Given the description of an element on the screen output the (x, y) to click on. 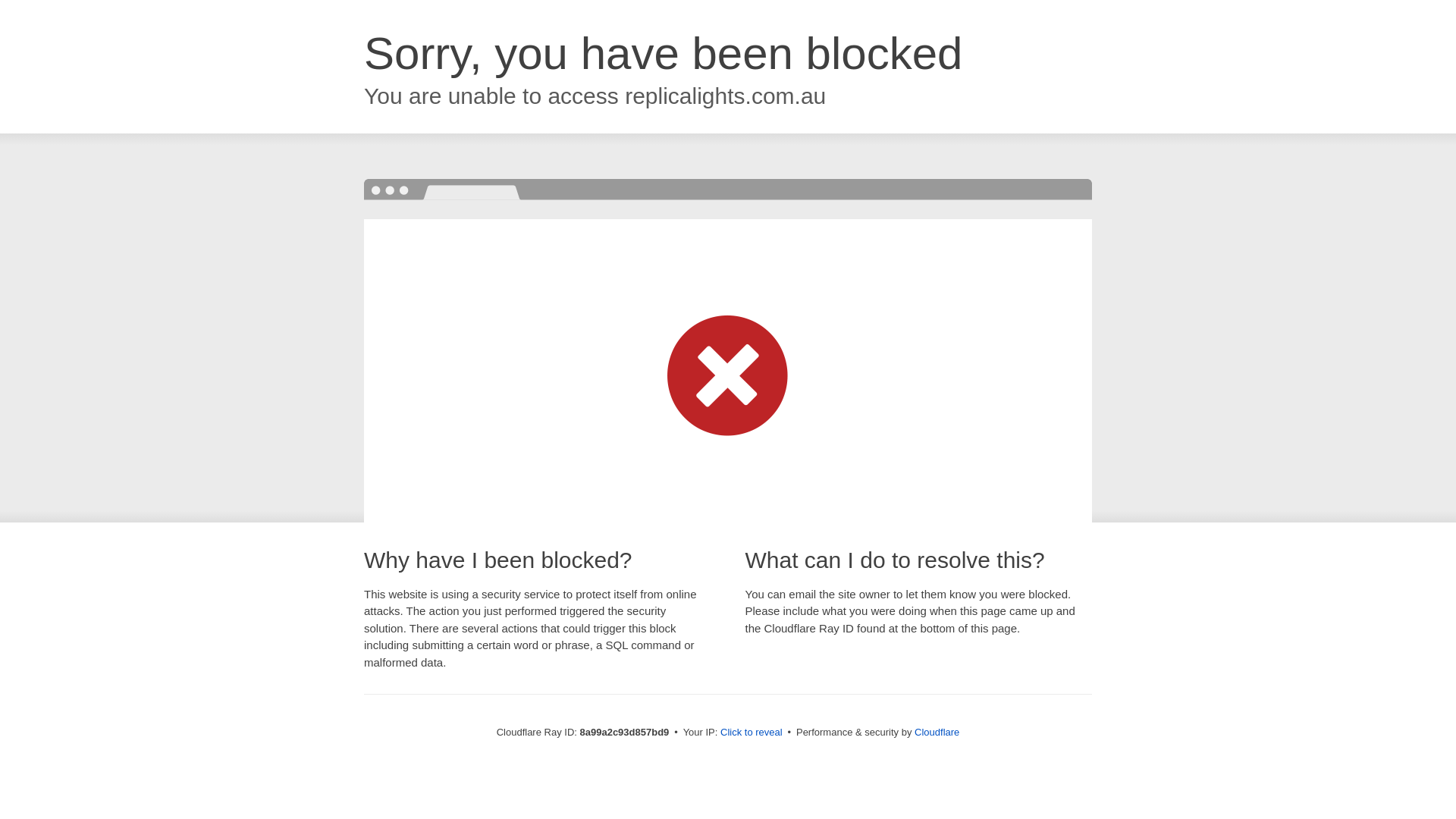
Cloudflare (936, 731)
Click to reveal (751, 732)
